Given the description of an element on the screen output the (x, y) to click on. 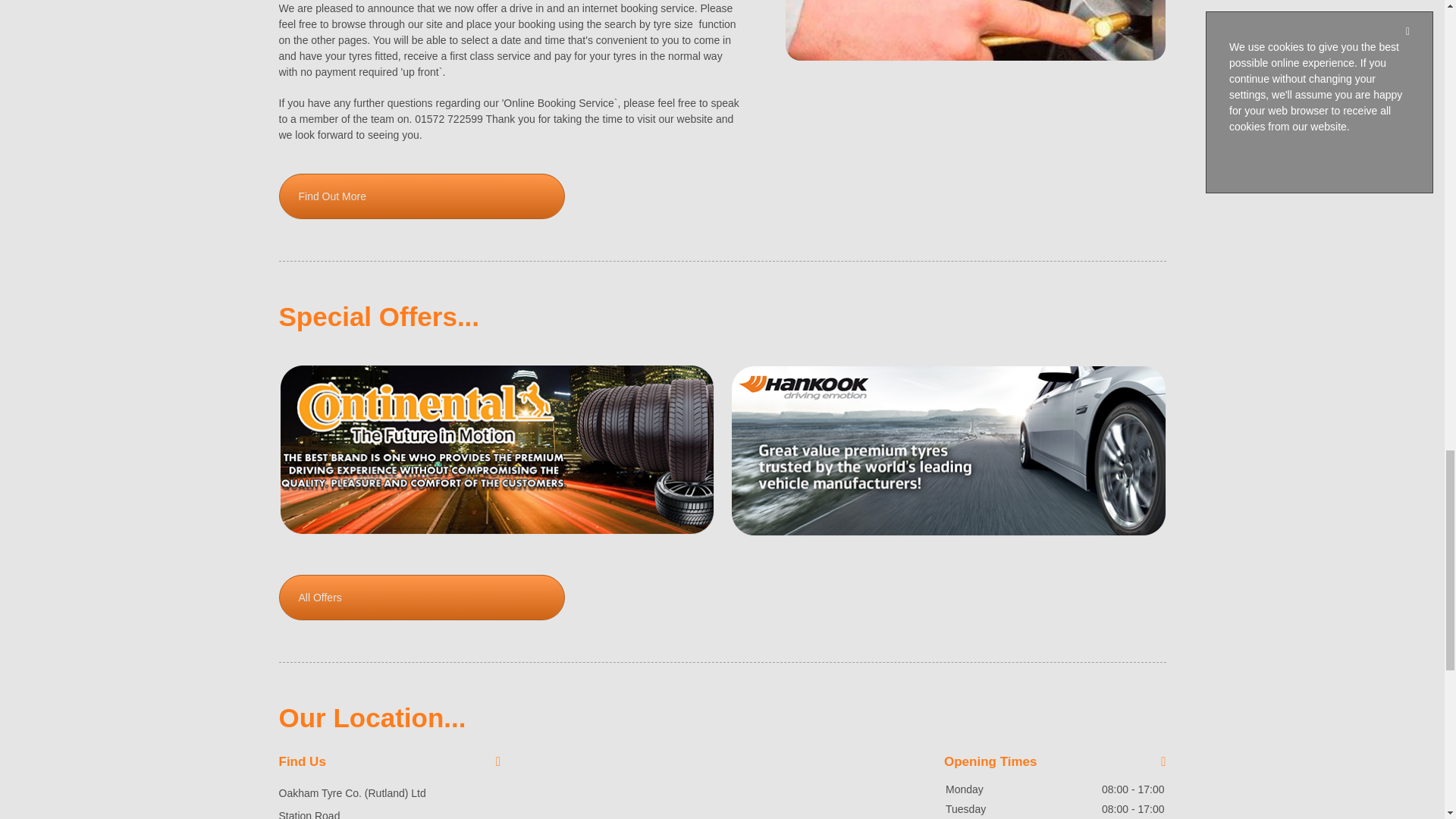
All Offers (421, 596)
Find Out More (421, 196)
